Given the description of an element on the screen output the (x, y) to click on. 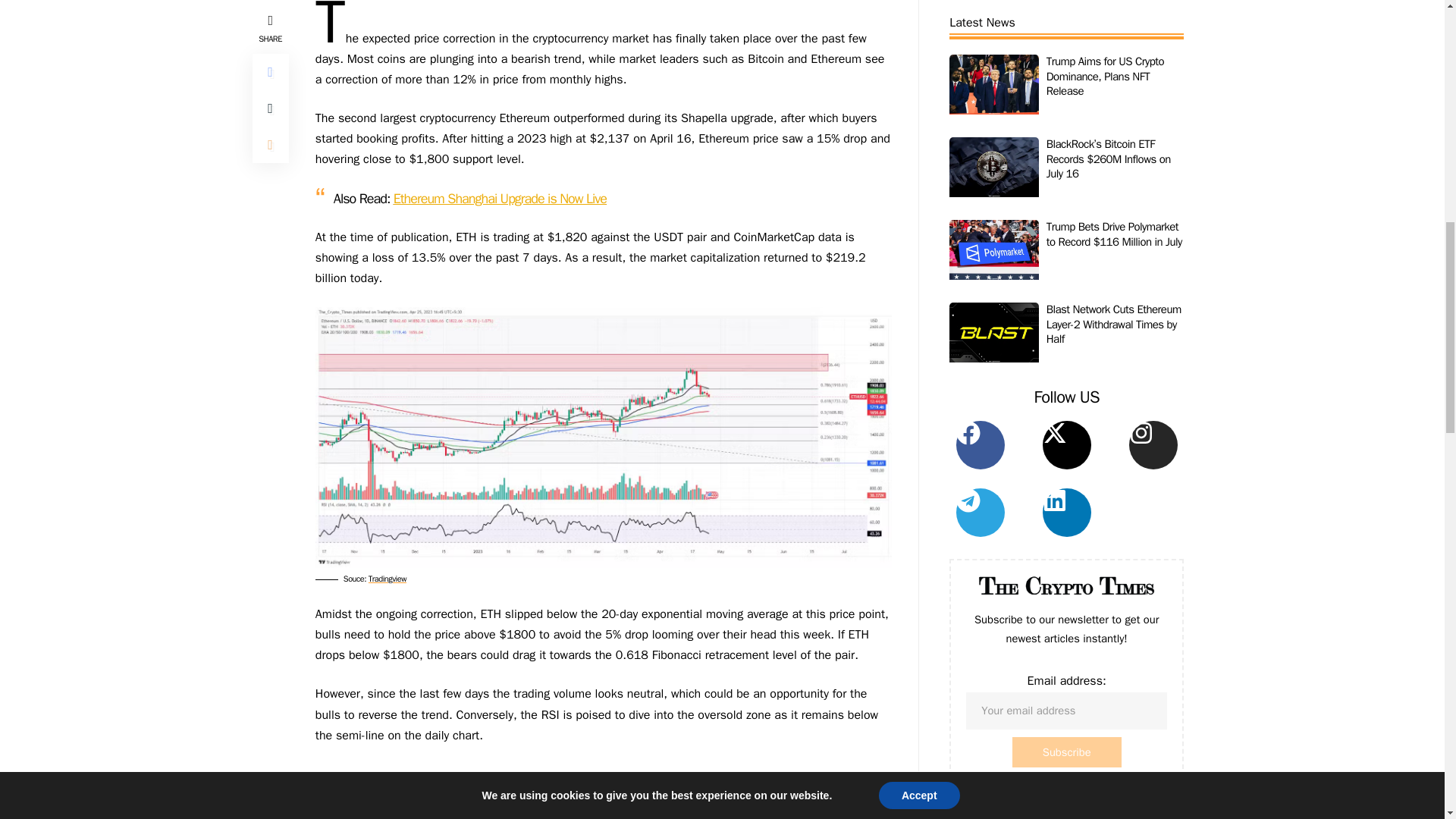
Subscribe (1066, 32)
